Given the description of an element on the screen output the (x, y) to click on. 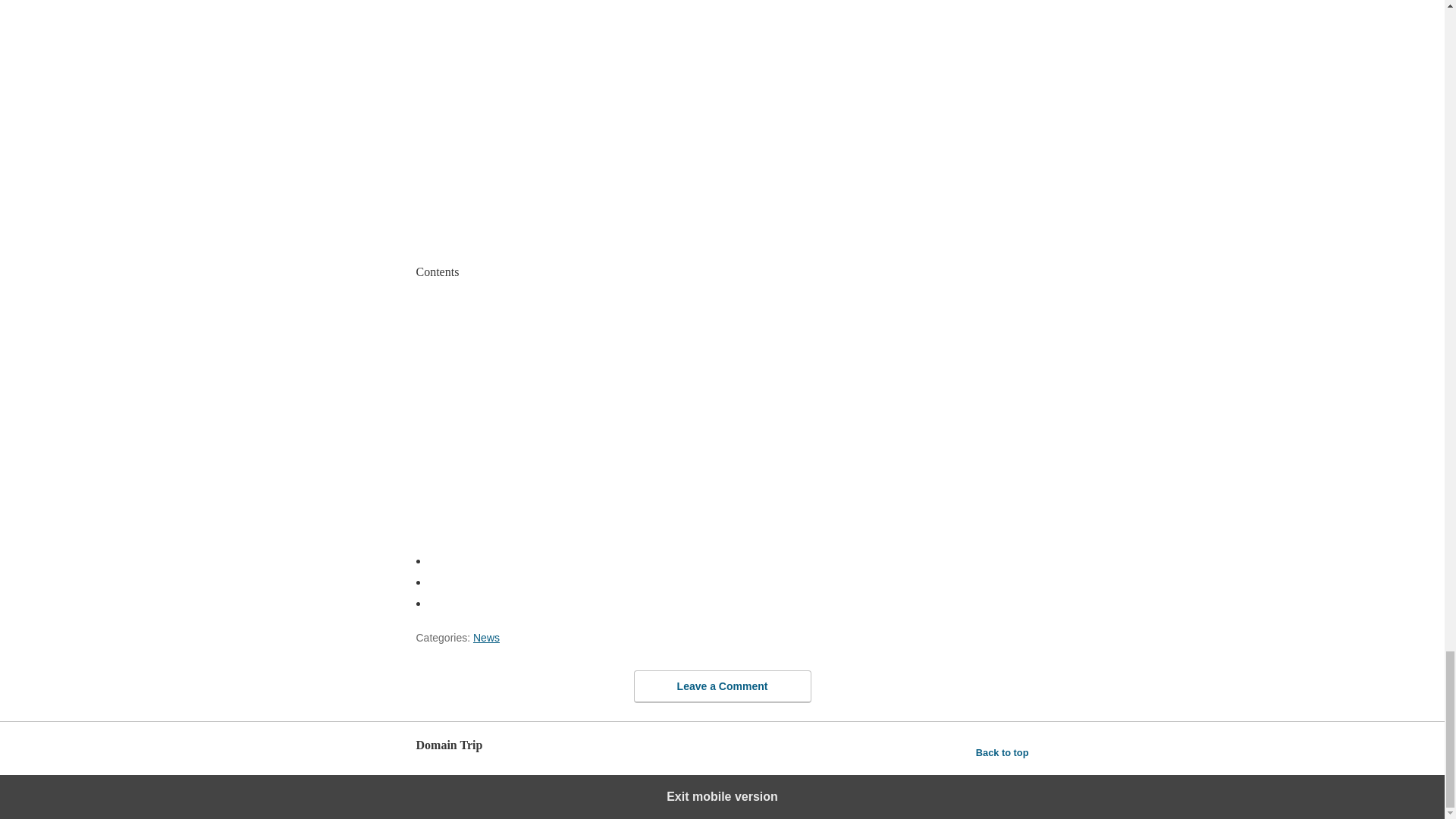
Back to top (1002, 752)
News (486, 637)
Leave a Comment (721, 686)
